Given the description of an element on the screen output the (x, y) to click on. 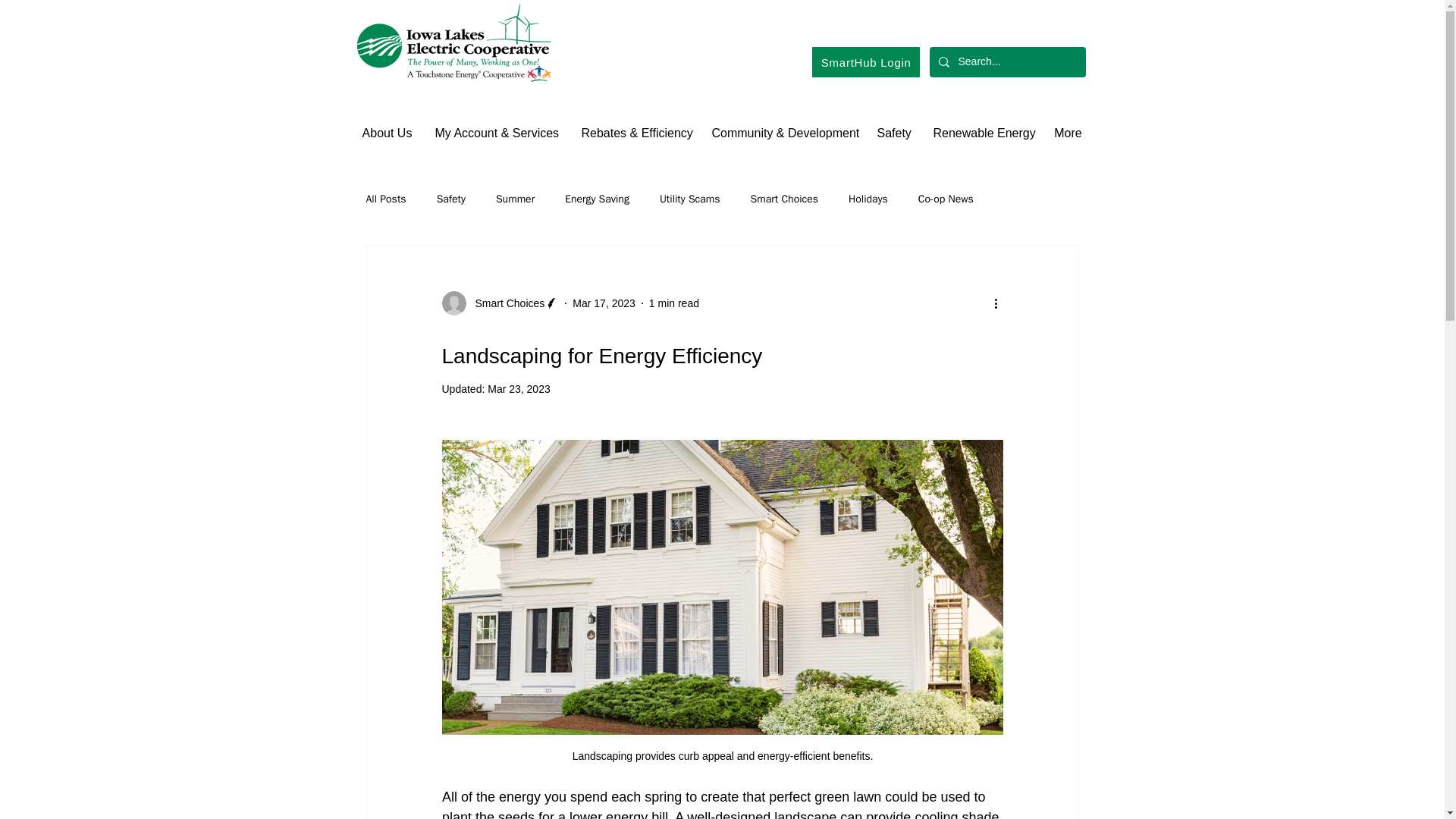
Mar 23, 2023 (518, 388)
Mar 17, 2023 (603, 303)
SmartHub Login (864, 61)
1 min read (673, 303)
Smart Choices (504, 303)
